Given the description of an element on the screen output the (x, y) to click on. 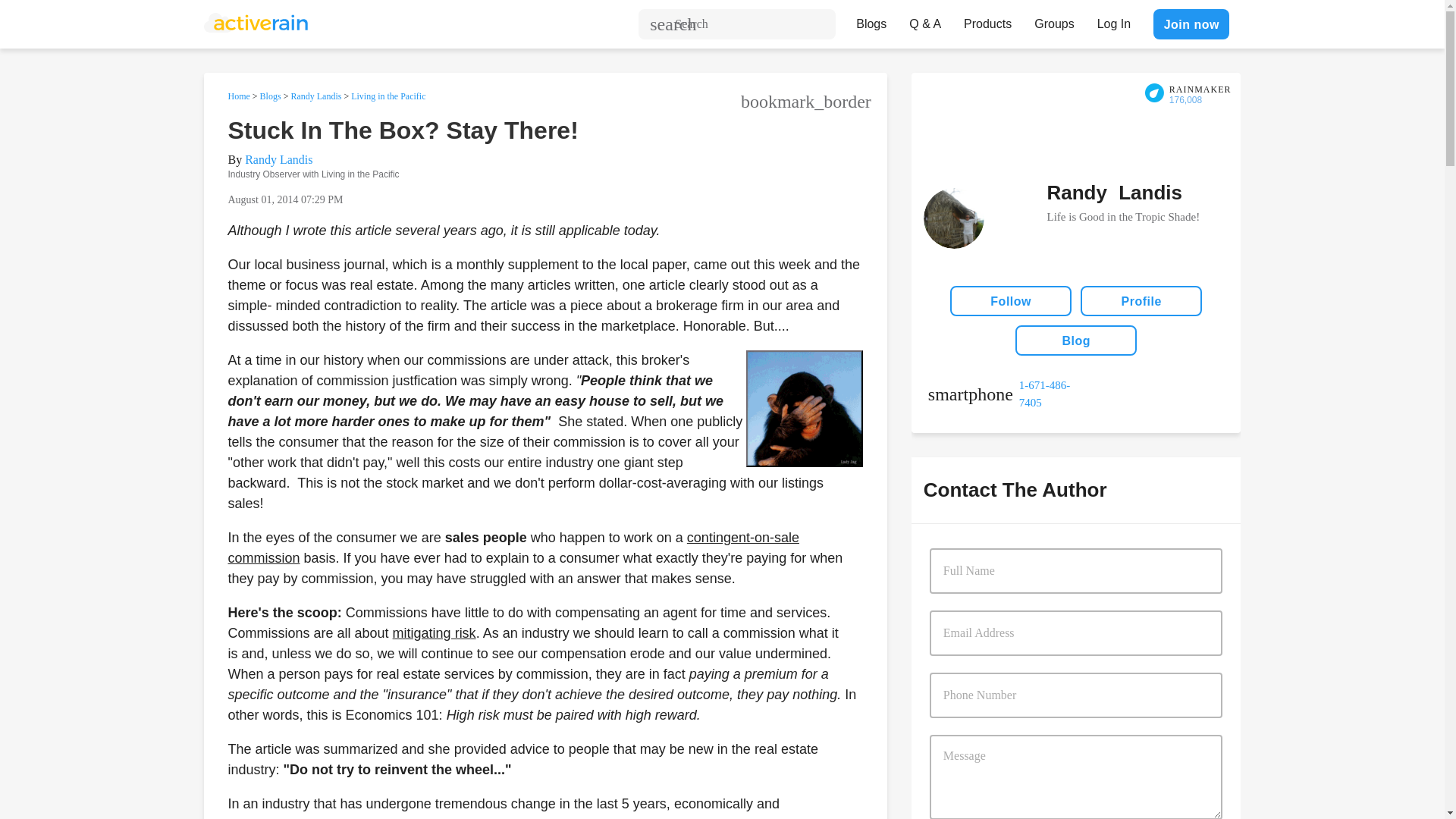
Home (237, 95)
Groups (1053, 19)
Join now (1190, 24)
Living in the Pacific (387, 95)
Blogs (270, 95)
Log In (1113, 19)
Products (986, 19)
Randy Landis (278, 159)
Blogs (870, 19)
Randy Landis (314, 95)
